Given the description of an element on the screen output the (x, y) to click on. 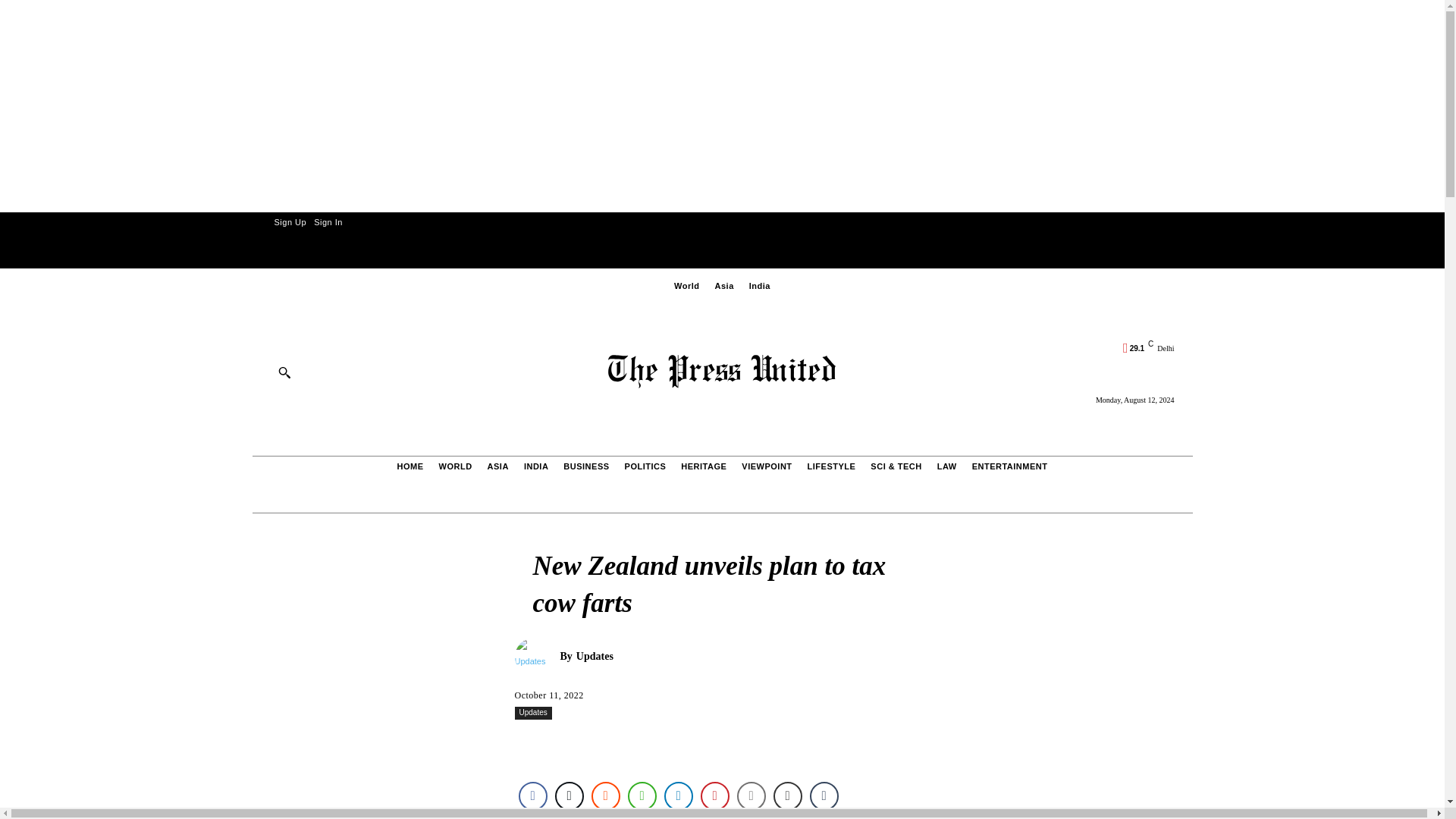
Advertisement (382, 728)
World (686, 285)
BUSINESS (585, 466)
LAW (946, 466)
India (759, 285)
WORLD (455, 466)
Sign In (328, 221)
POLITICS (645, 466)
HERITAGE (703, 466)
